Given the description of an element on the screen output the (x, y) to click on. 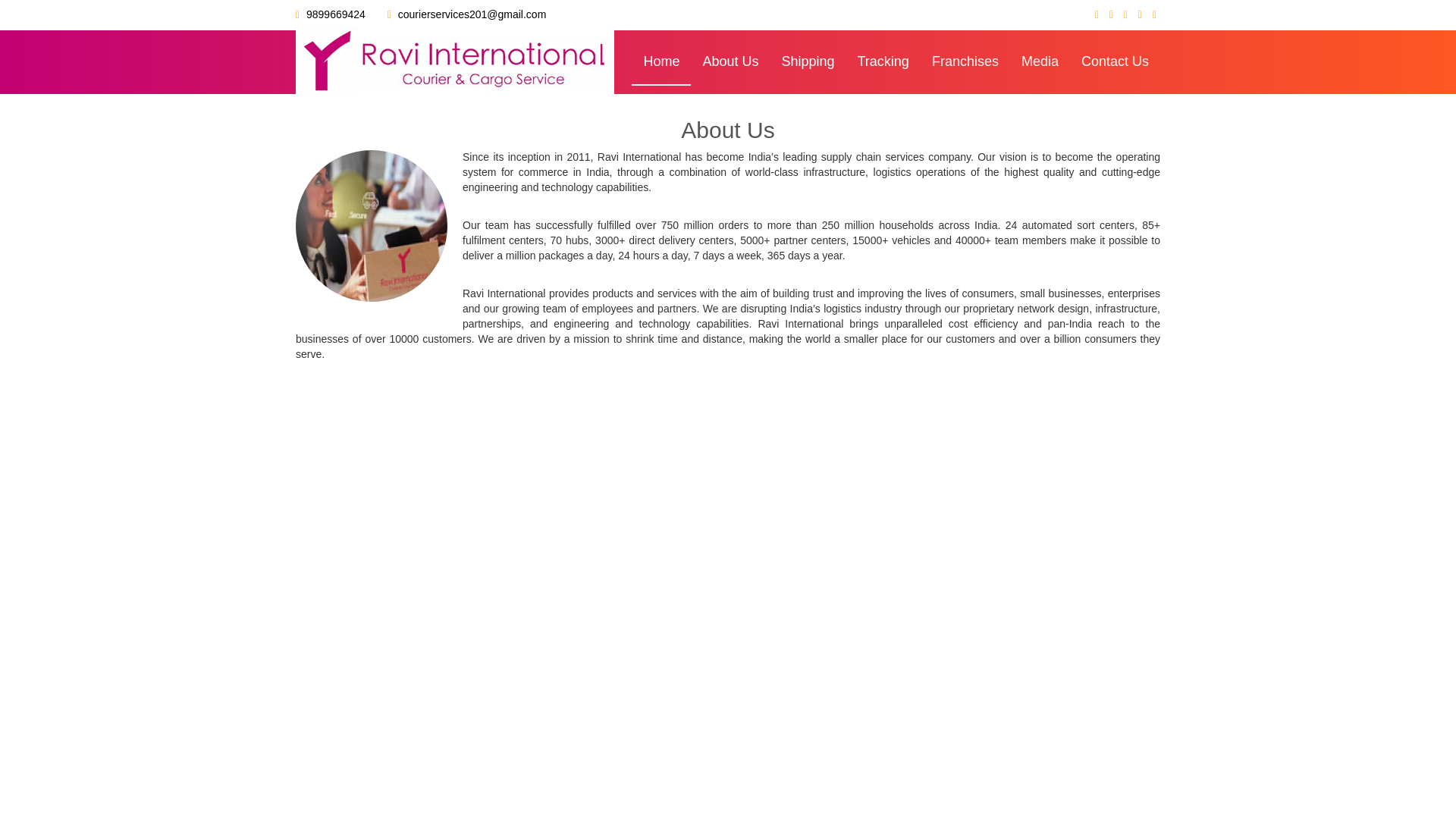
Franchises (965, 61)
Tracking (882, 61)
9899669424 (335, 14)
Home (660, 61)
Contact Us (1115, 61)
Shipping (807, 61)
About Us (730, 61)
Media (1040, 61)
